Given the description of an element on the screen output the (x, y) to click on. 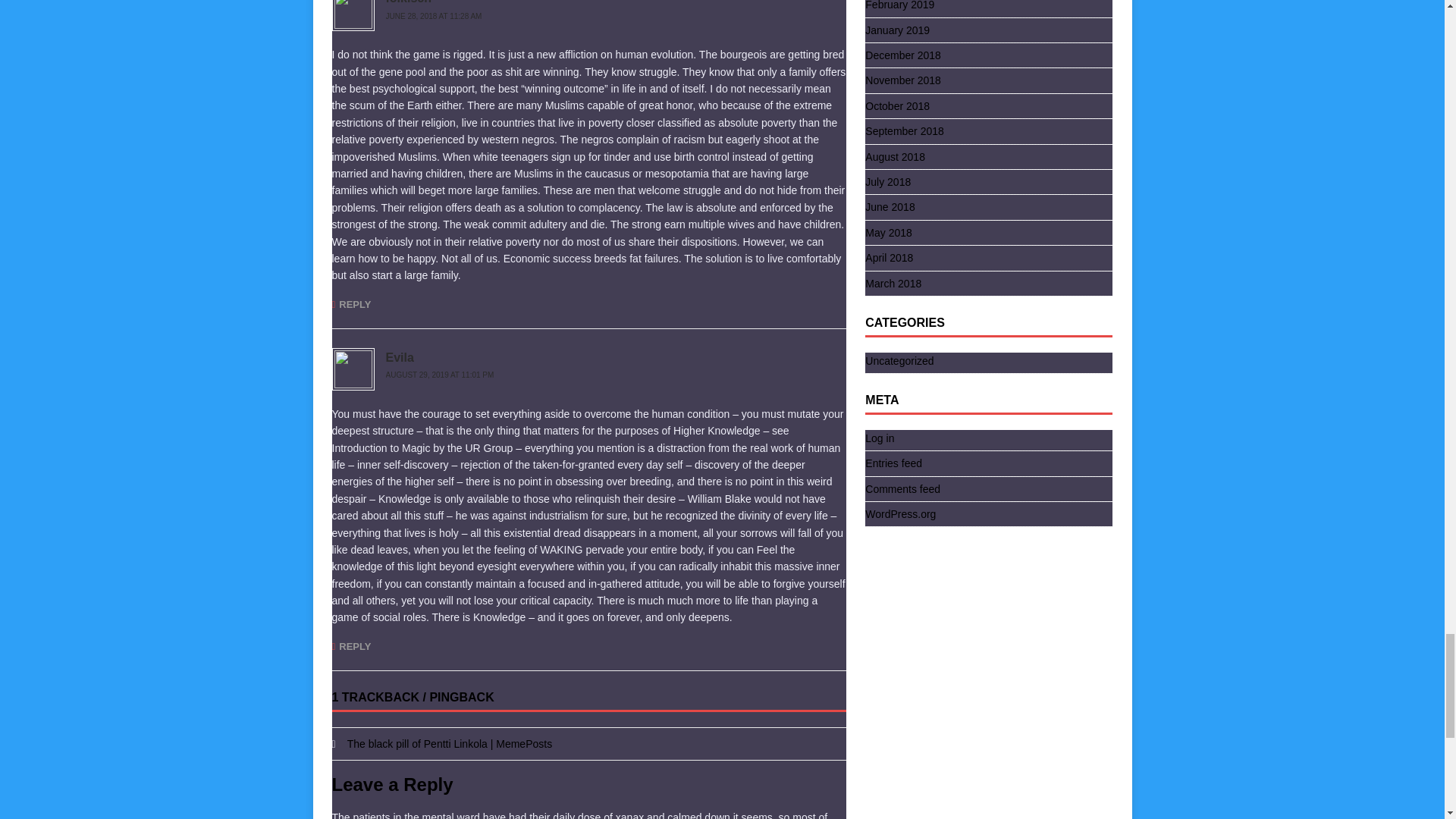
AUGUST 29, 2019 AT 11:01 PM (439, 375)
JUNE 28, 2018 AT 11:28 AM (433, 16)
REPLY (351, 304)
REPLY (351, 645)
